Given the description of an element on the screen output the (x, y) to click on. 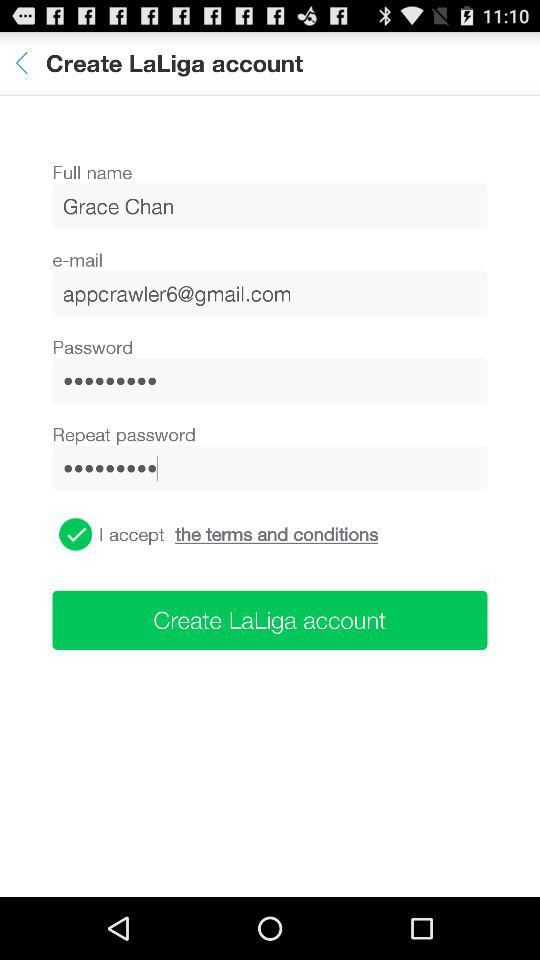
accepts terms (75, 533)
